Given the description of an element on the screen output the (x, y) to click on. 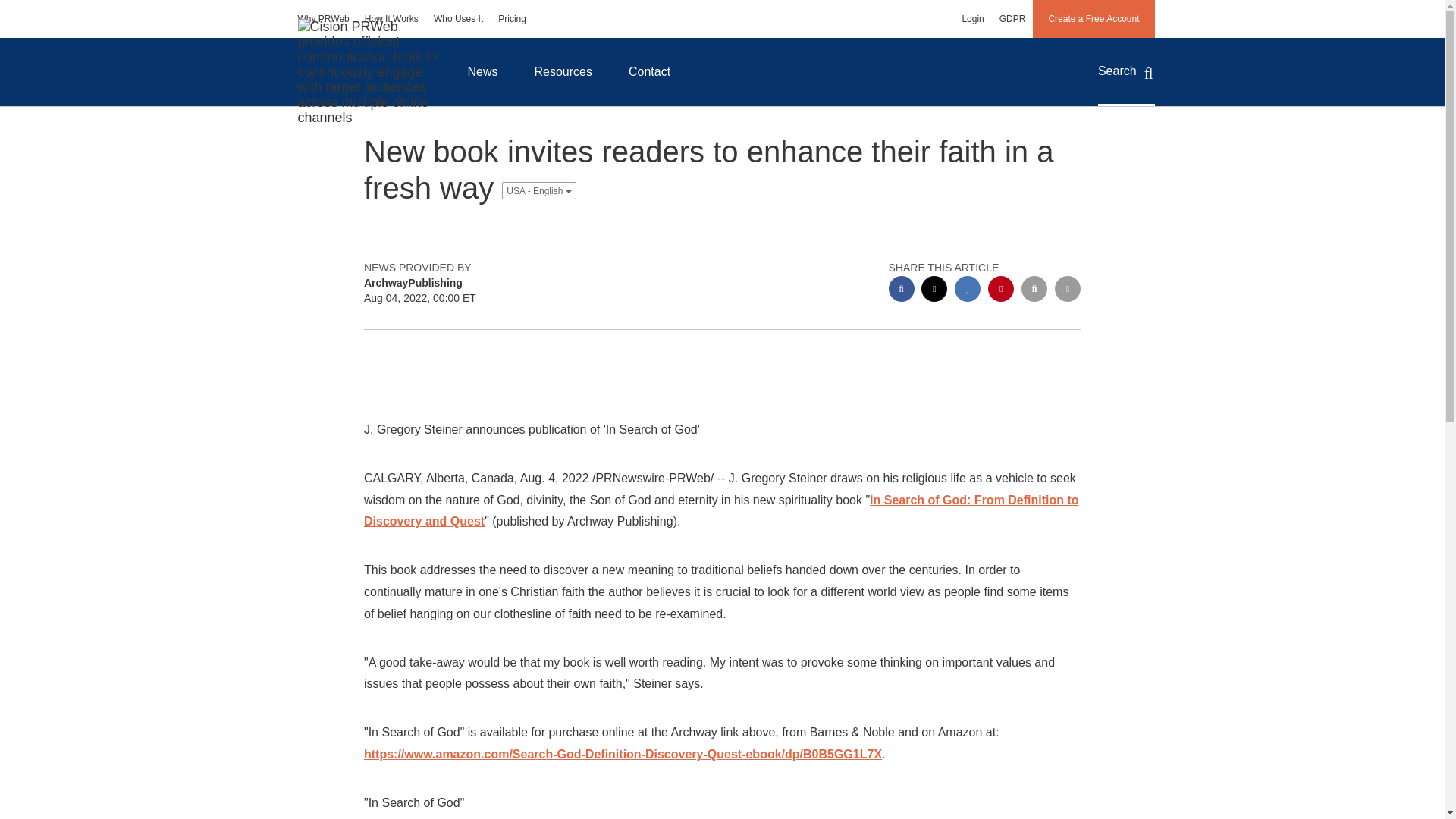
How It Works (391, 18)
Pricing (512, 18)
Who Uses It (458, 18)
GDPR (1012, 18)
Contact (649, 71)
Why PRWeb (322, 18)
Login (972, 18)
Resources (563, 71)
Create a Free Account (1093, 18)
News (481, 71)
